Given the description of an element on the screen output the (x, y) to click on. 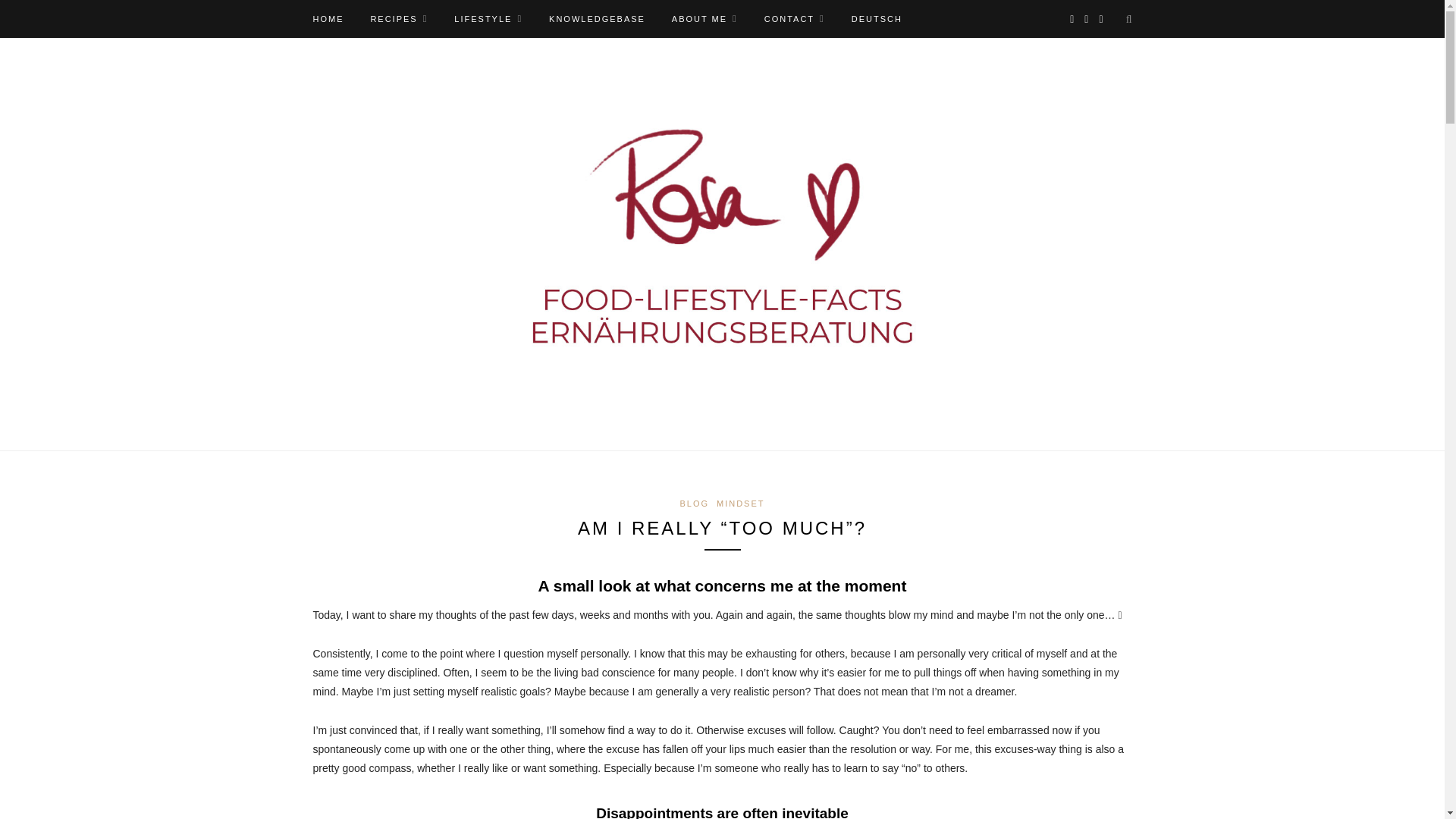
CONTACT (794, 18)
RECIPES (398, 18)
ABOUT ME (704, 18)
DEUTSCH (876, 18)
KNOWLEDGEBASE (596, 18)
MINDSET (740, 502)
LIFESTYLE (488, 18)
BLOG (694, 502)
